Given the description of an element on the screen output the (x, y) to click on. 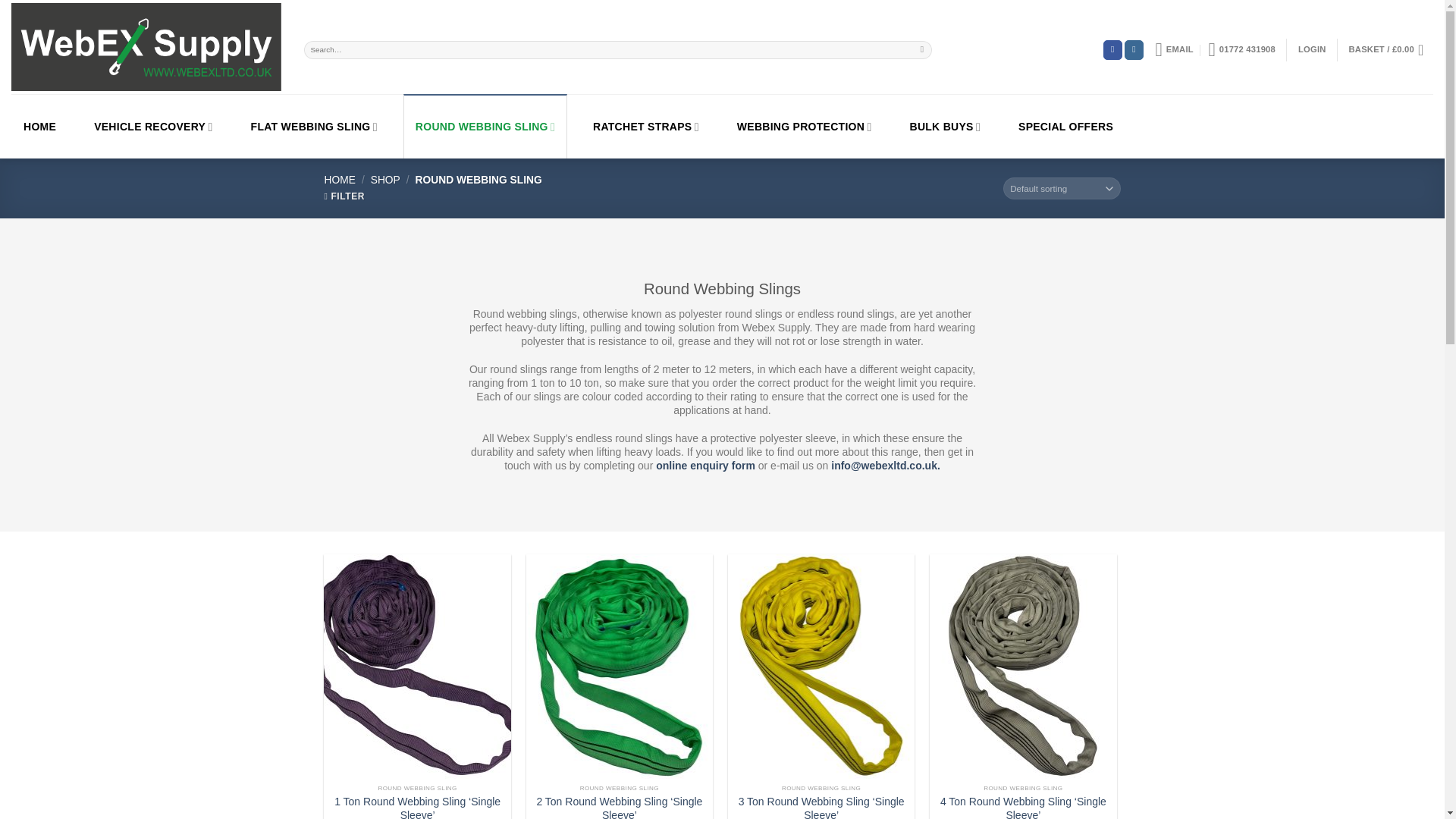
Follow on Facebook (1112, 49)
01772 431908 (1241, 49)
EMAIL (1173, 49)
01772 431908 (1241, 49)
LOGIN (1312, 50)
FLAT WEBBING SLING (314, 126)
Basket (1390, 49)
VEHICLE RECOVERY (152, 126)
Follow on Instagram (1134, 49)
Search (921, 49)
